Given the description of an element on the screen output the (x, y) to click on. 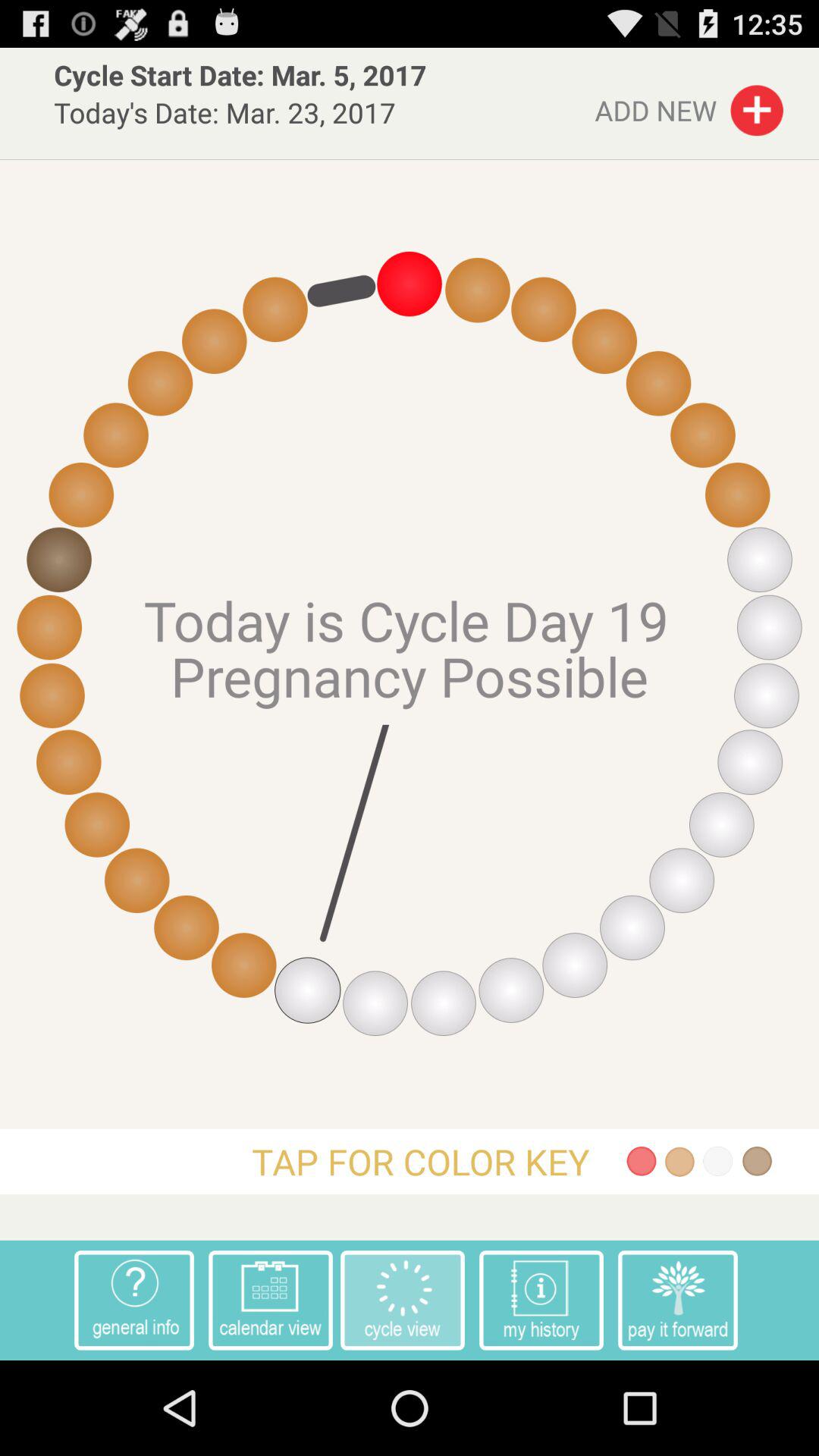
flip until the add new (688, 106)
